Given the description of an element on the screen output the (x, y) to click on. 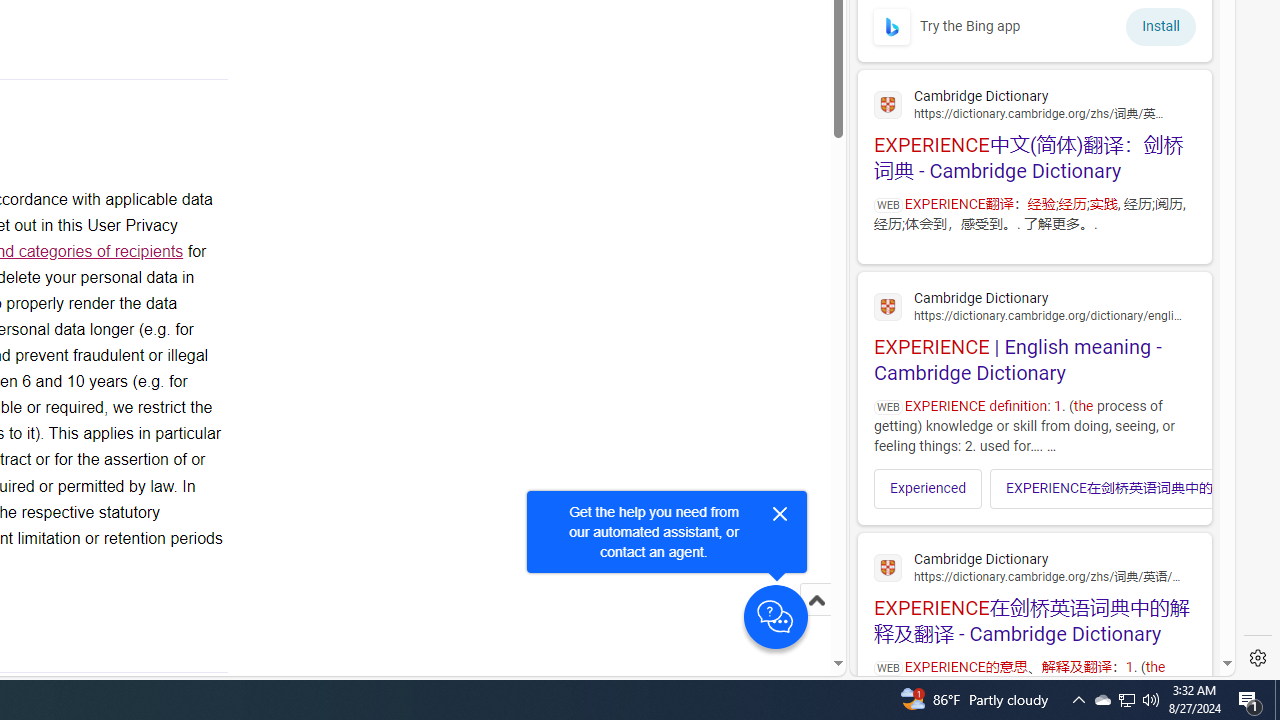
To get missing image descriptions, open the context menu. (892, 26)
Global web icon (888, 568)
Scroll to top (816, 599)
Cambridge Dictionary (1034, 565)
Experienced (928, 488)
Click to scroll right (1183, 488)
EXPERIENCE | English meaning - Cambridge Dictionary (1034, 334)
